Given the description of an element on the screen output the (x, y) to click on. 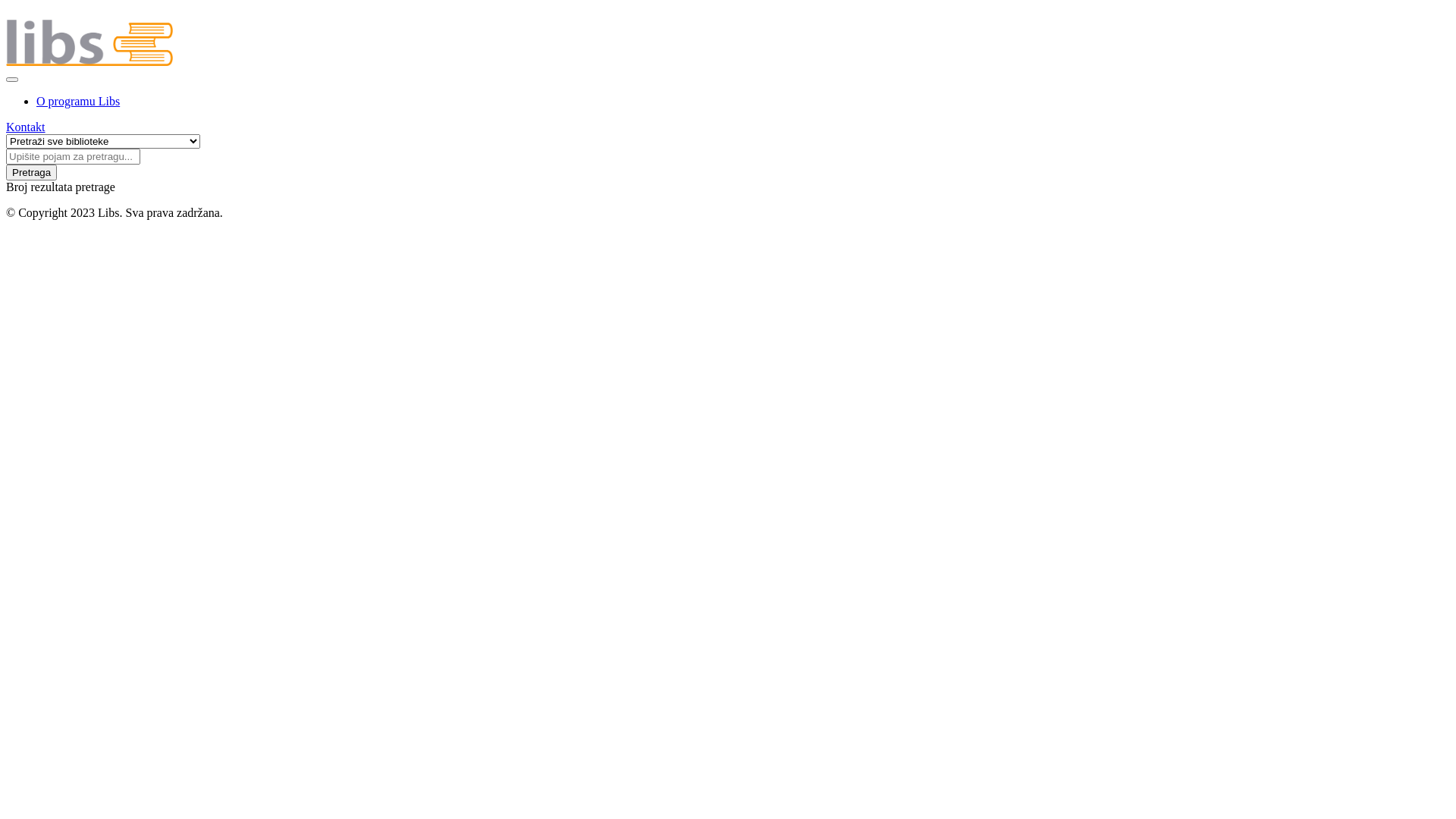
O programu Libs Element type: text (77, 100)
Kontakt Element type: text (25, 126)
Pretraga Element type: text (31, 172)
